Given the description of an element on the screen output the (x, y) to click on. 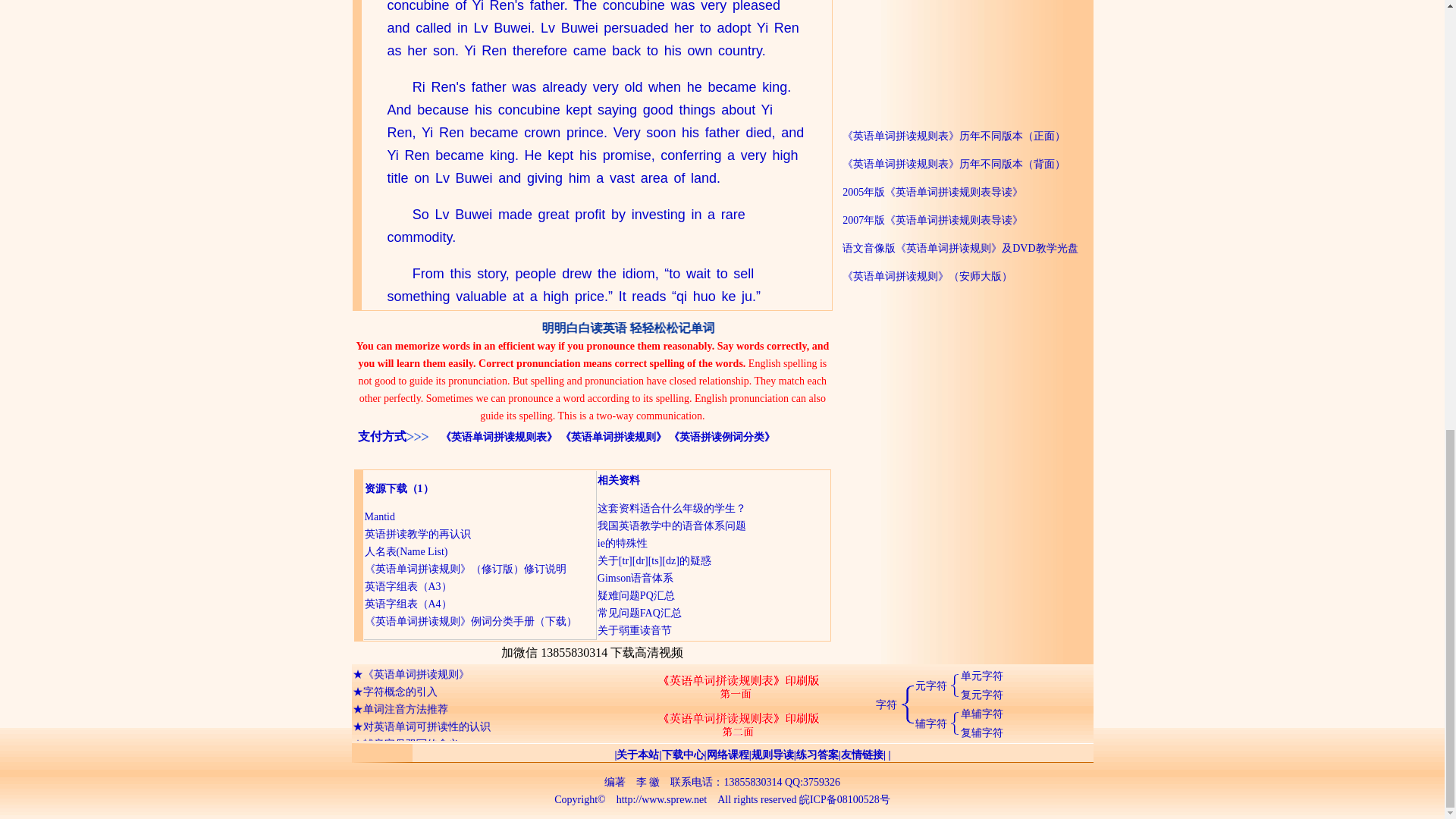
Mantid (379, 516)
